Given the description of an element on the screen output the (x, y) to click on. 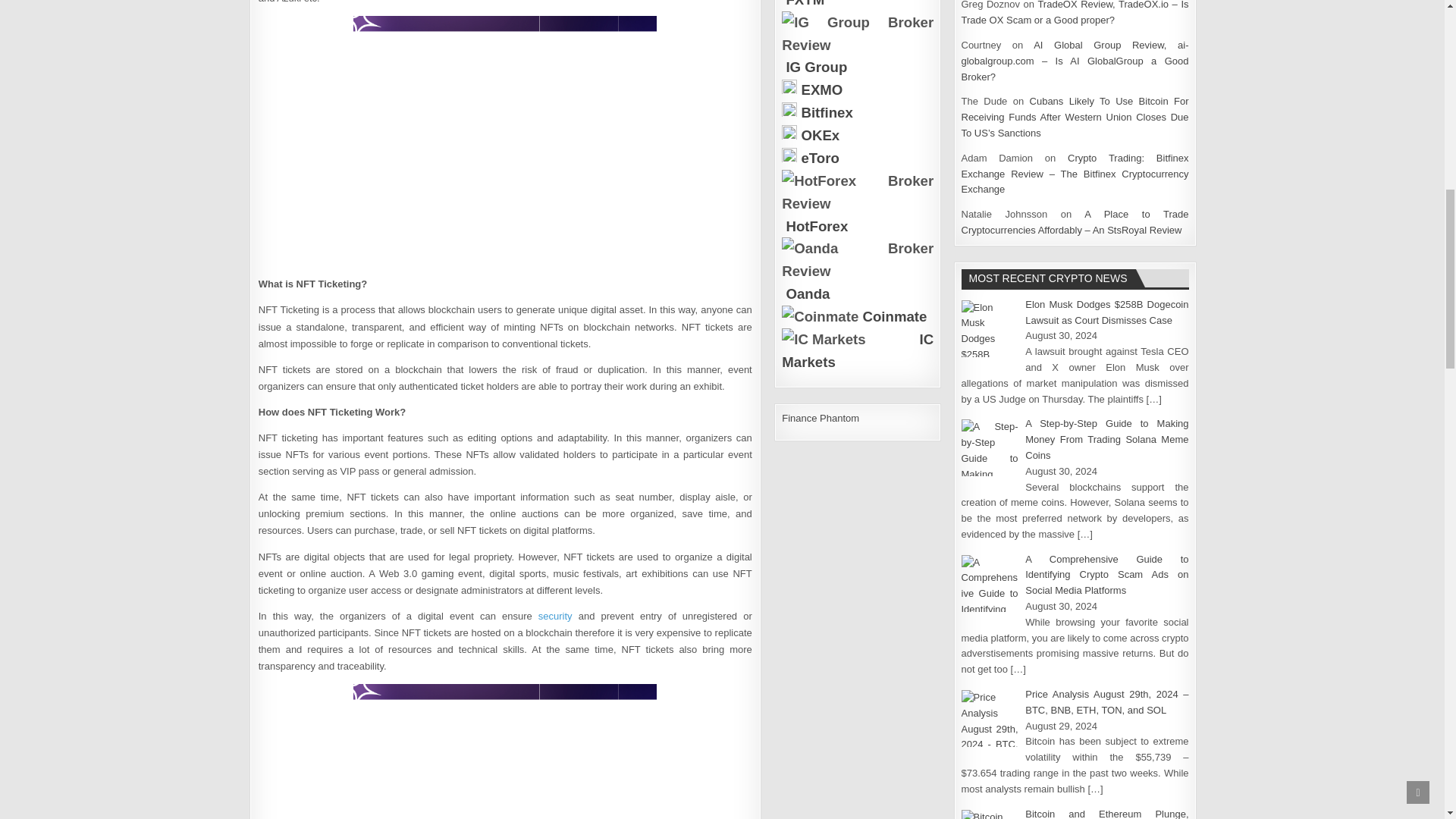
Cypher Mind HQ (504, 141)
Cypher Mind HQ (504, 751)
security (555, 615)
security (555, 615)
